Given the description of an element on the screen output the (x, y) to click on. 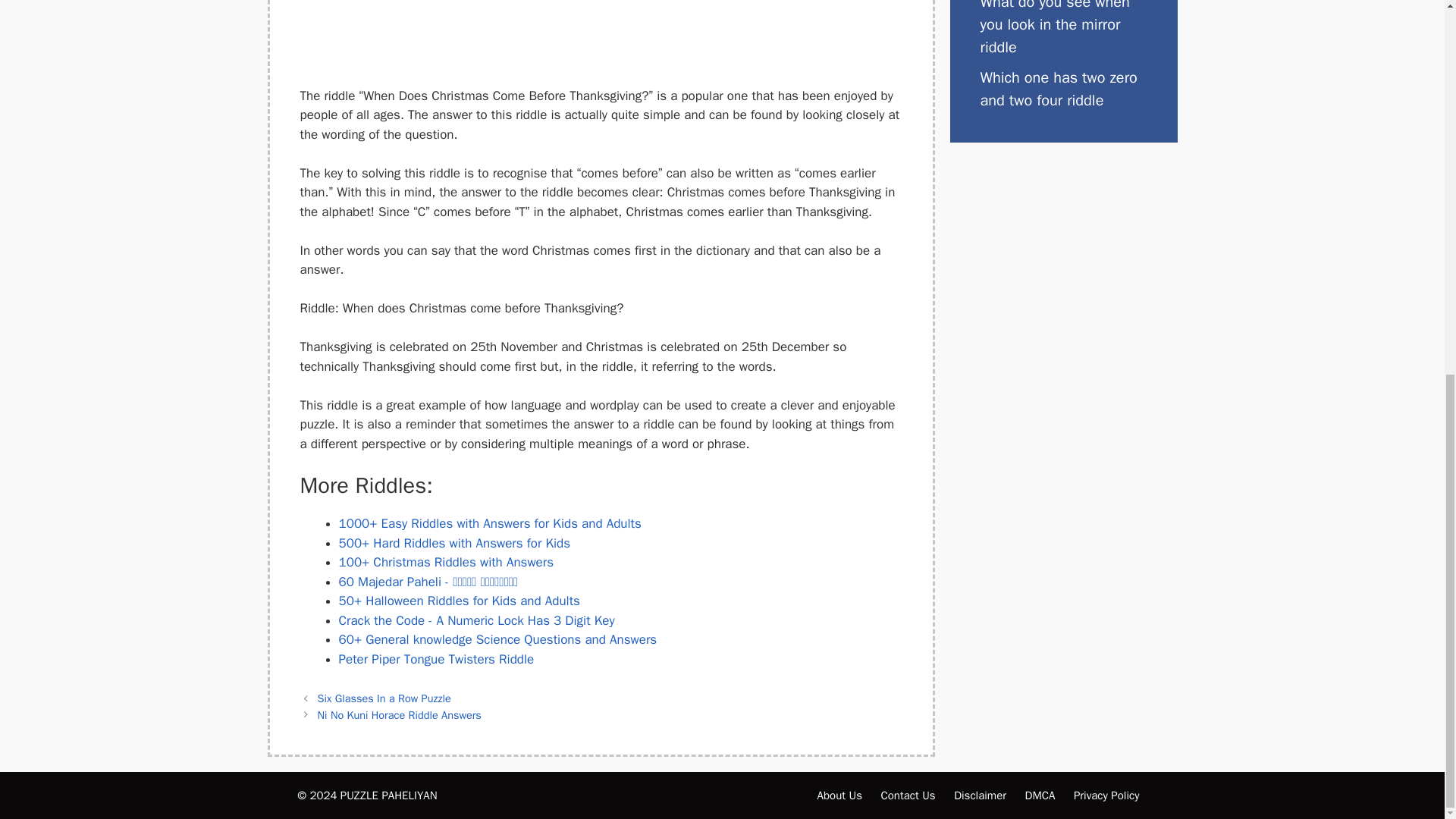
Peter Piper Tongue Twisters Riddle (435, 659)
Six Glasses In a Row Puzzle (384, 698)
Crack the Code - A Numeric Lock Has 3 Digit Key (475, 620)
Ni No Kuni Horace Riddle Answers (399, 714)
